Given the description of an element on the screen output the (x, y) to click on. 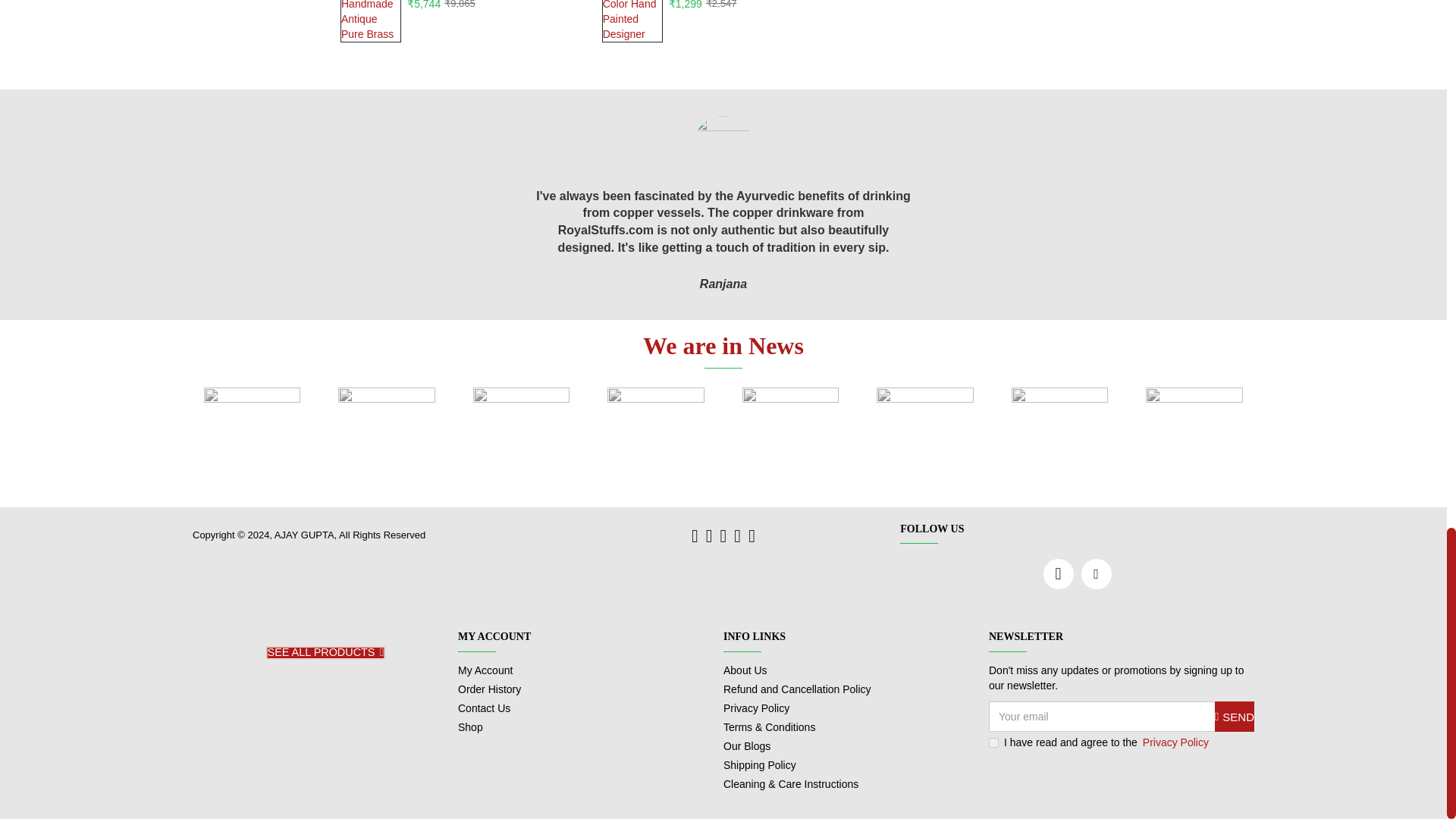
1 (993, 742)
 8-Inch Handmade Antique Pure Brass Separate Ram Darbar Idol (370, 20)
